Given the description of an element on the screen output the (x, y) to click on. 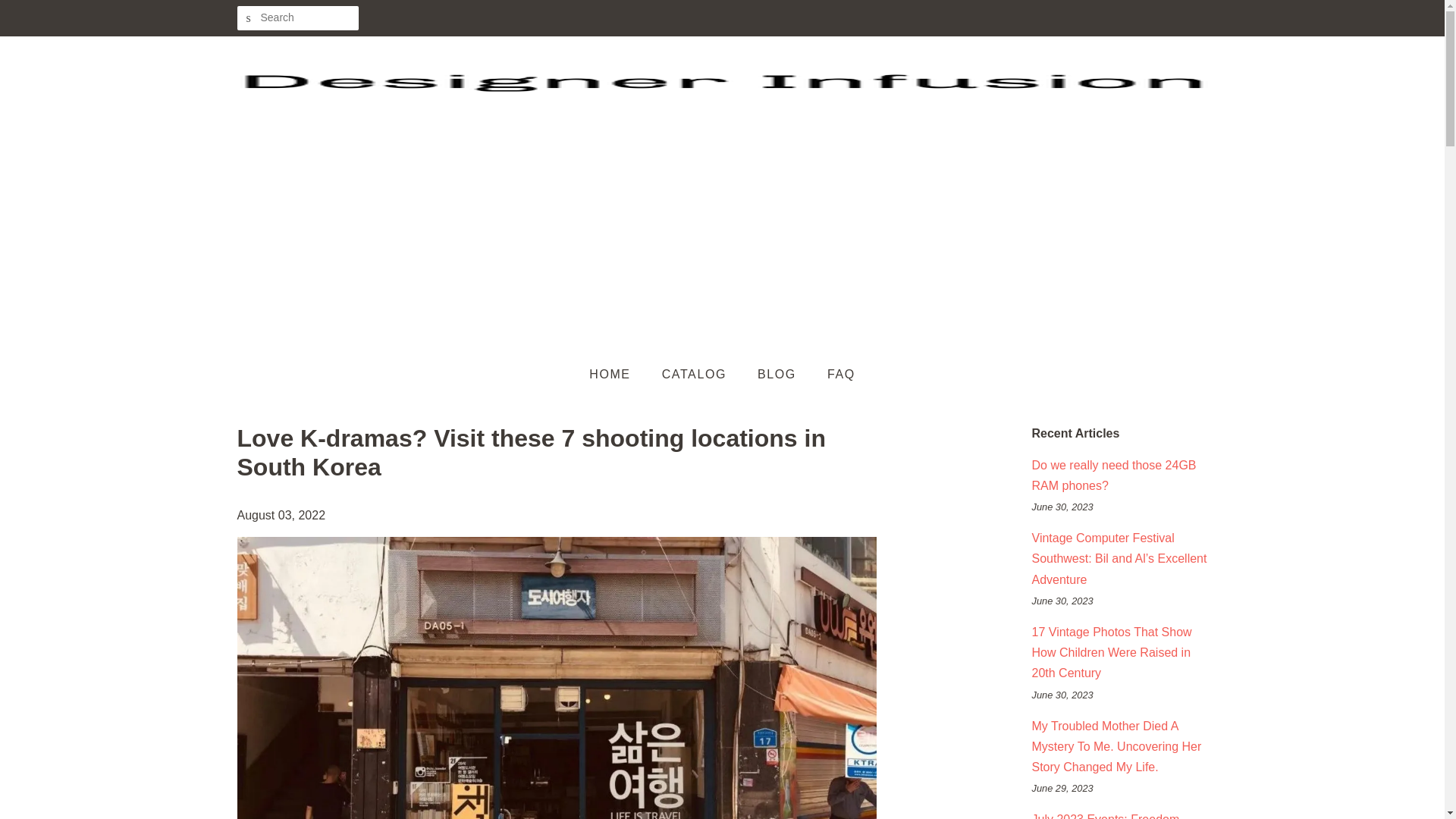
SEARCH (247, 18)
HOME (617, 373)
Do we really need those 24GB RAM phones? (1112, 475)
CATALOG (695, 373)
FAQ (835, 373)
BLOG (777, 373)
